Given the description of an element on the screen output the (x, y) to click on. 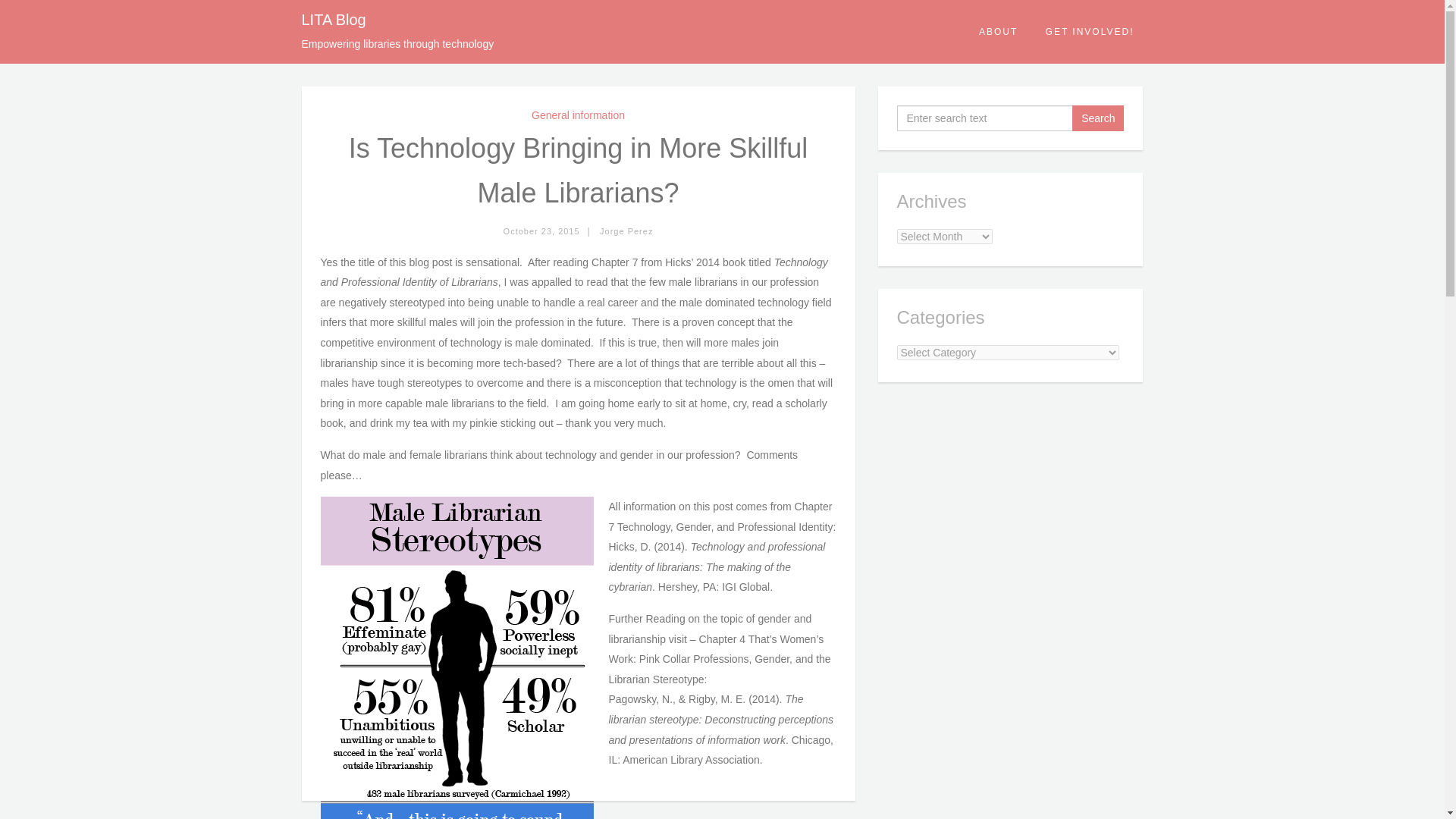
GET INVOLVED! (1089, 31)
General information (577, 115)
Jorge Perez (625, 230)
Search (1097, 118)
LITA Blog (333, 19)
About (998, 31)
October 23, 2015 (541, 230)
Search (1097, 118)
ABOUT (998, 31)
Get Involved! (1089, 31)
